Given the description of an element on the screen output the (x, y) to click on. 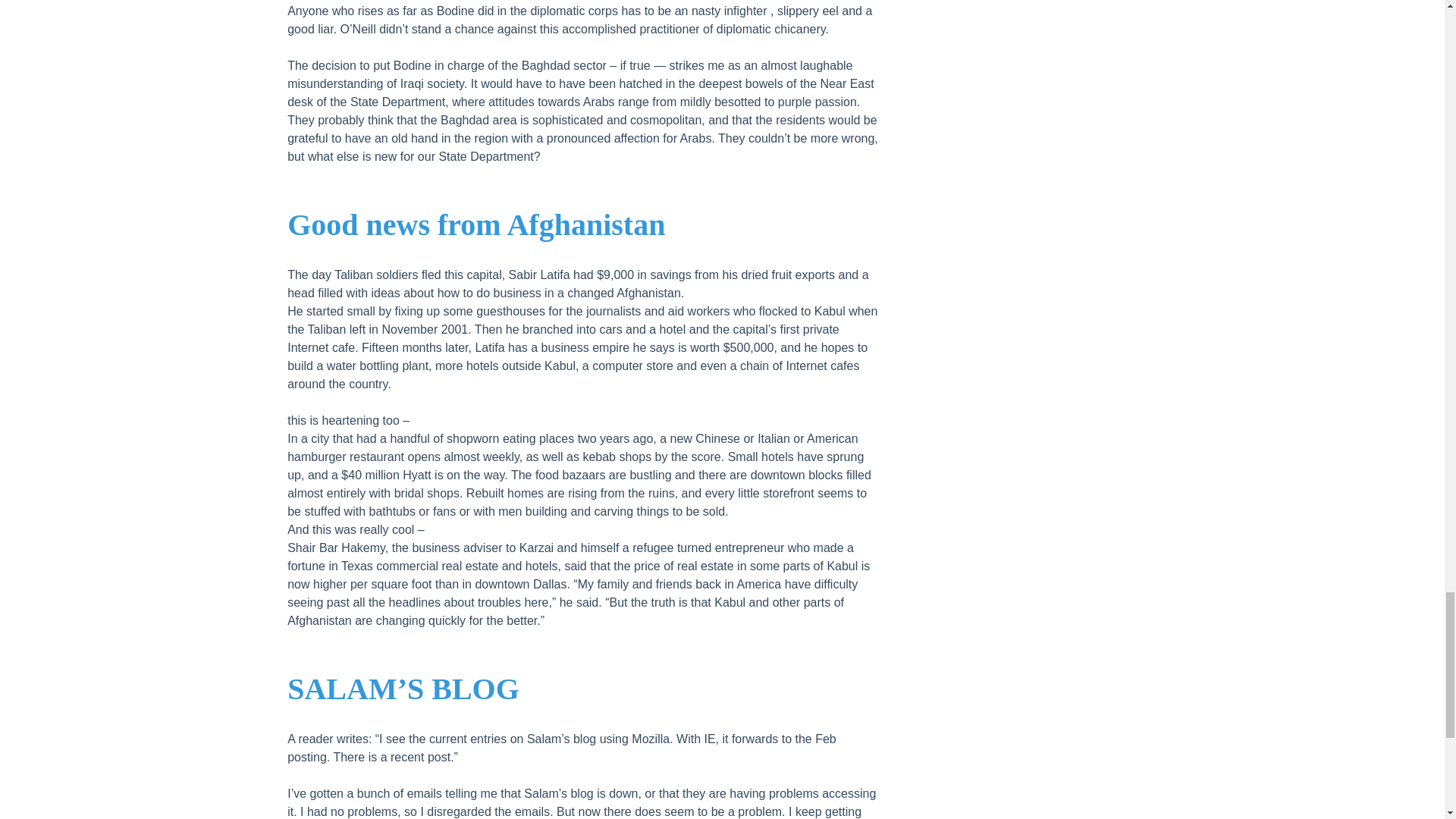
Good news from Afghanistan (475, 224)
